Given the description of an element on the screen output the (x, y) to click on. 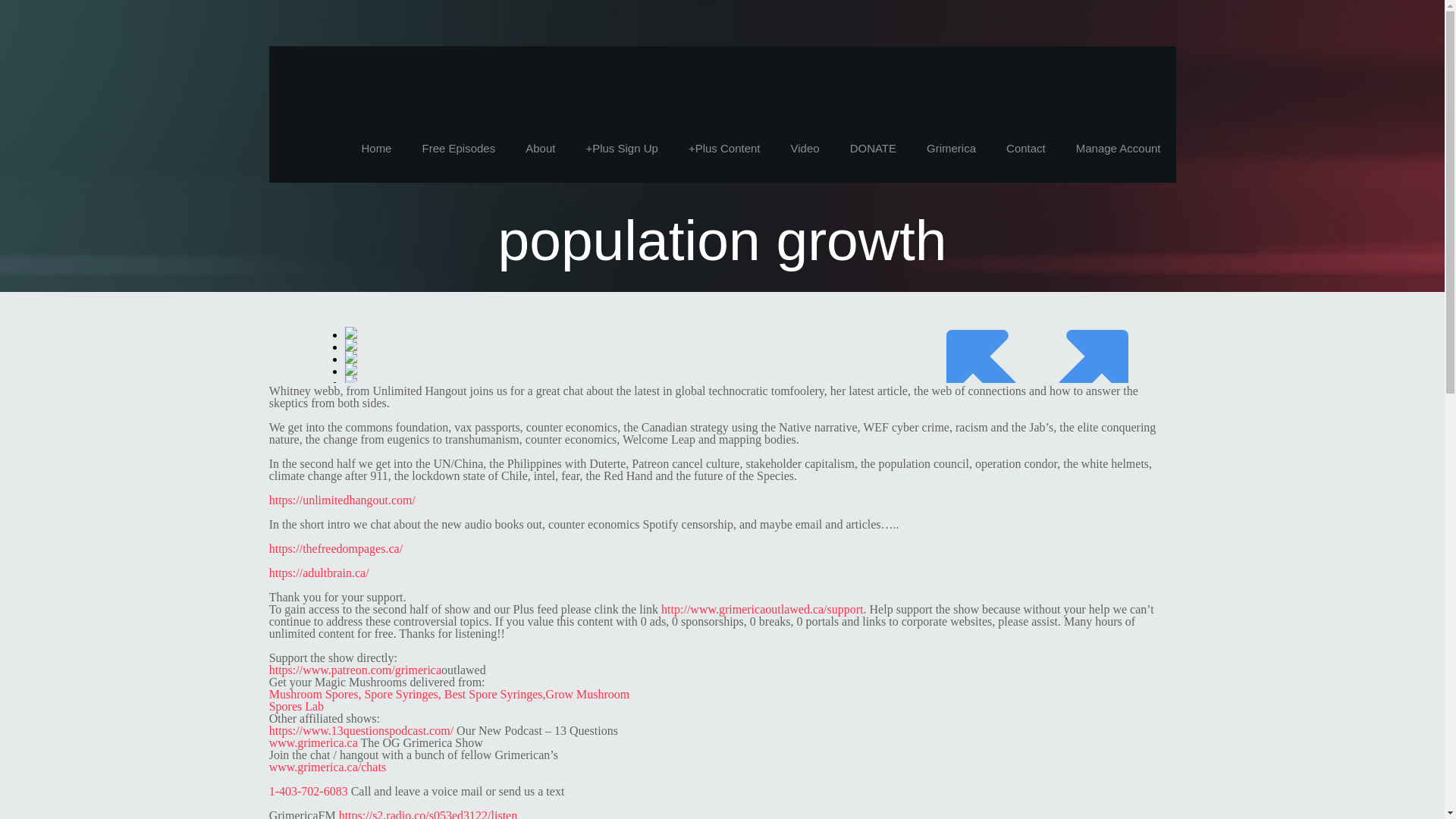
Video (805, 148)
Contact (1026, 148)
DONATE (872, 148)
Spores Lab (296, 706)
1-403-702-6083 (308, 790)
Grimerica Outlawed (413, 79)
Home (376, 148)
Grimerica (951, 148)
About (540, 148)
Manage Account (1118, 148)
Free Episodes (458, 148)
www.grimerica.ca (313, 742)
